Given the description of an element on the screen output the (x, y) to click on. 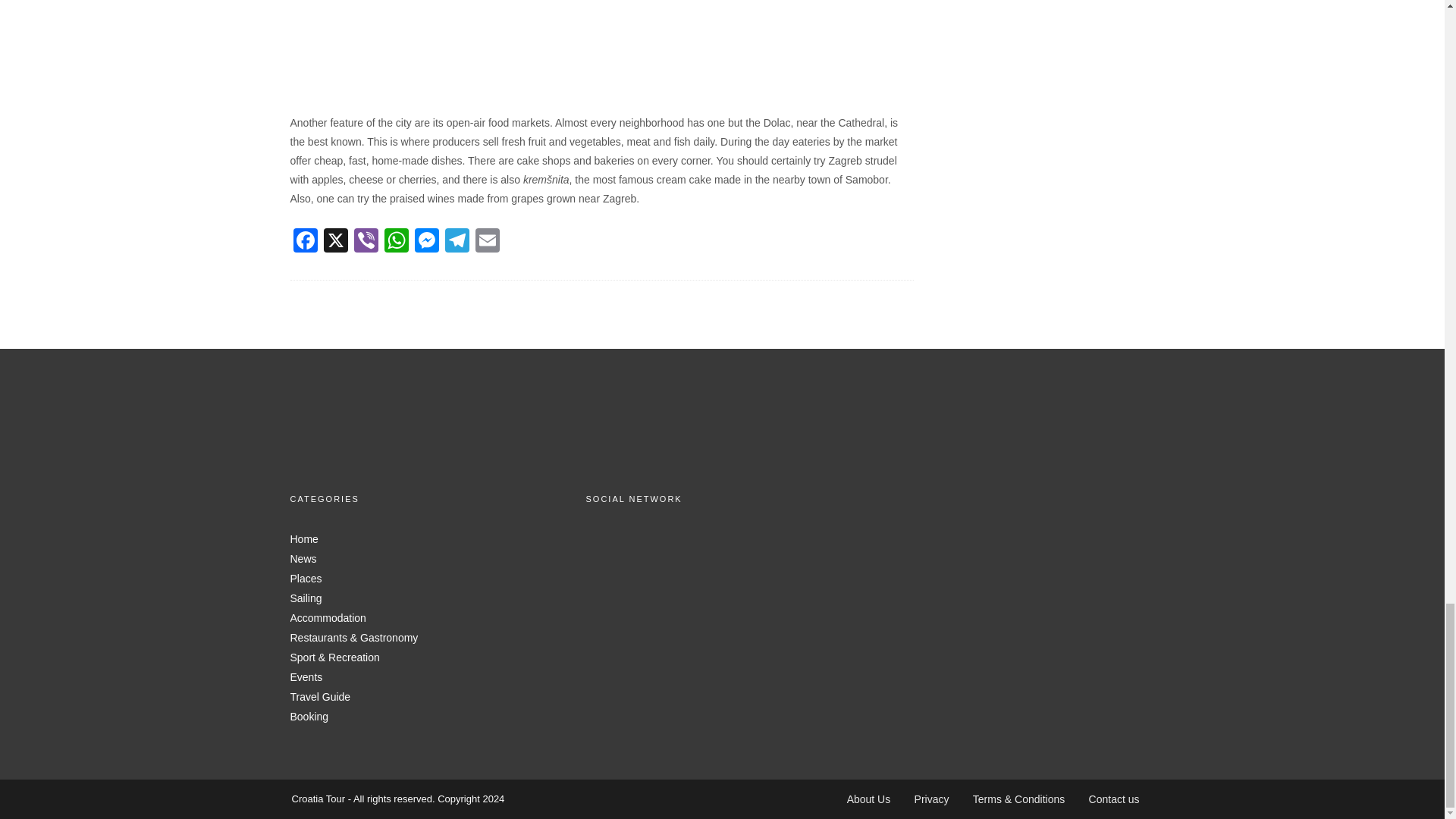
Email (486, 242)
WhatsApp (395, 242)
WhatsApp (395, 242)
Facebook (304, 242)
Email (486, 242)
X (335, 242)
Telegram (456, 242)
Messenger (425, 242)
X (335, 242)
Messenger (425, 242)
Viber (365, 242)
Viber (365, 242)
Telegram (456, 242)
Facebook (304, 242)
